Given the description of an element on the screen output the (x, y) to click on. 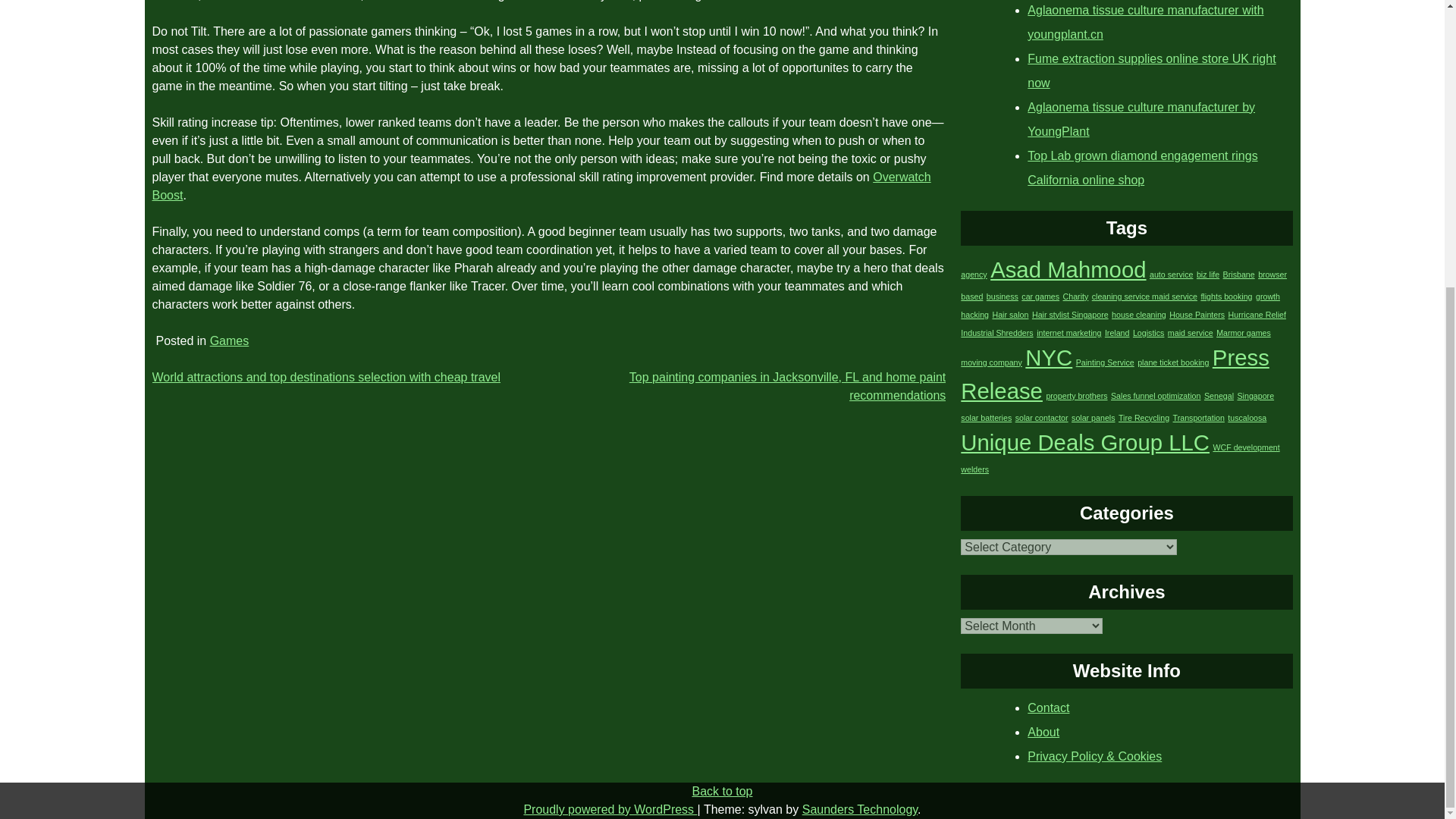
Hair salon (1009, 314)
Asad Mahmood (1067, 269)
agency (973, 274)
House Painters (1196, 314)
Brisbane (1239, 274)
car games (1040, 296)
Aglaonema tissue culture manufacturer with youngplant.cn (1145, 22)
Games (228, 339)
Charity (1075, 296)
browser based (1123, 285)
Hurricane Relief (1256, 314)
growth hacking (1119, 305)
flights booking (1225, 296)
Aglaonema tissue culture manufacturer by YoungPlant (1141, 119)
